Given the description of an element on the screen output the (x, y) to click on. 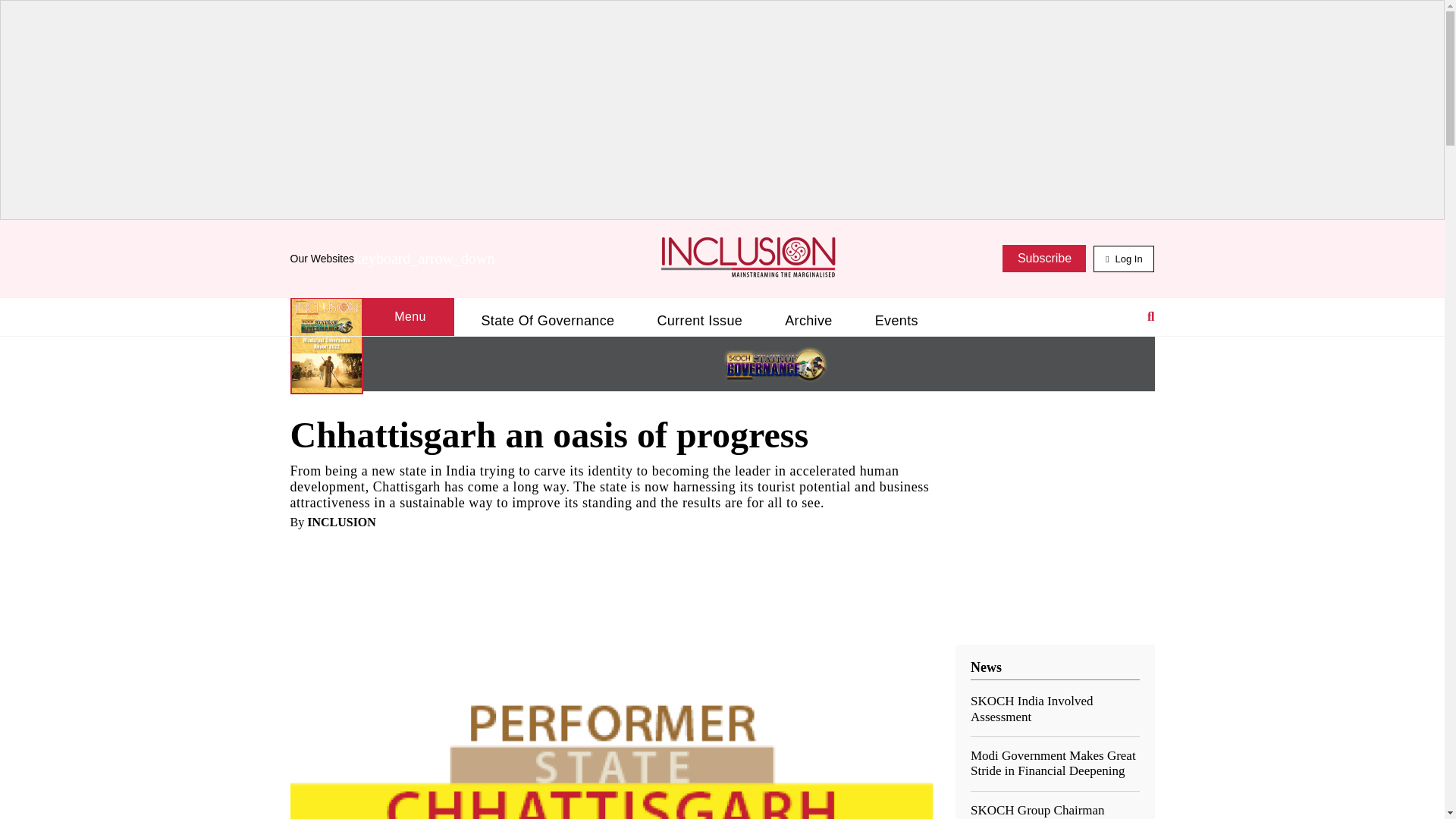
Log In (1123, 258)
State Of Governance (547, 320)
Subscribe (1044, 257)
Events (896, 320)
Archive (808, 320)
Advertisement (722, 136)
Current Issue (699, 320)
